Given the description of an element on the screen output the (x, y) to click on. 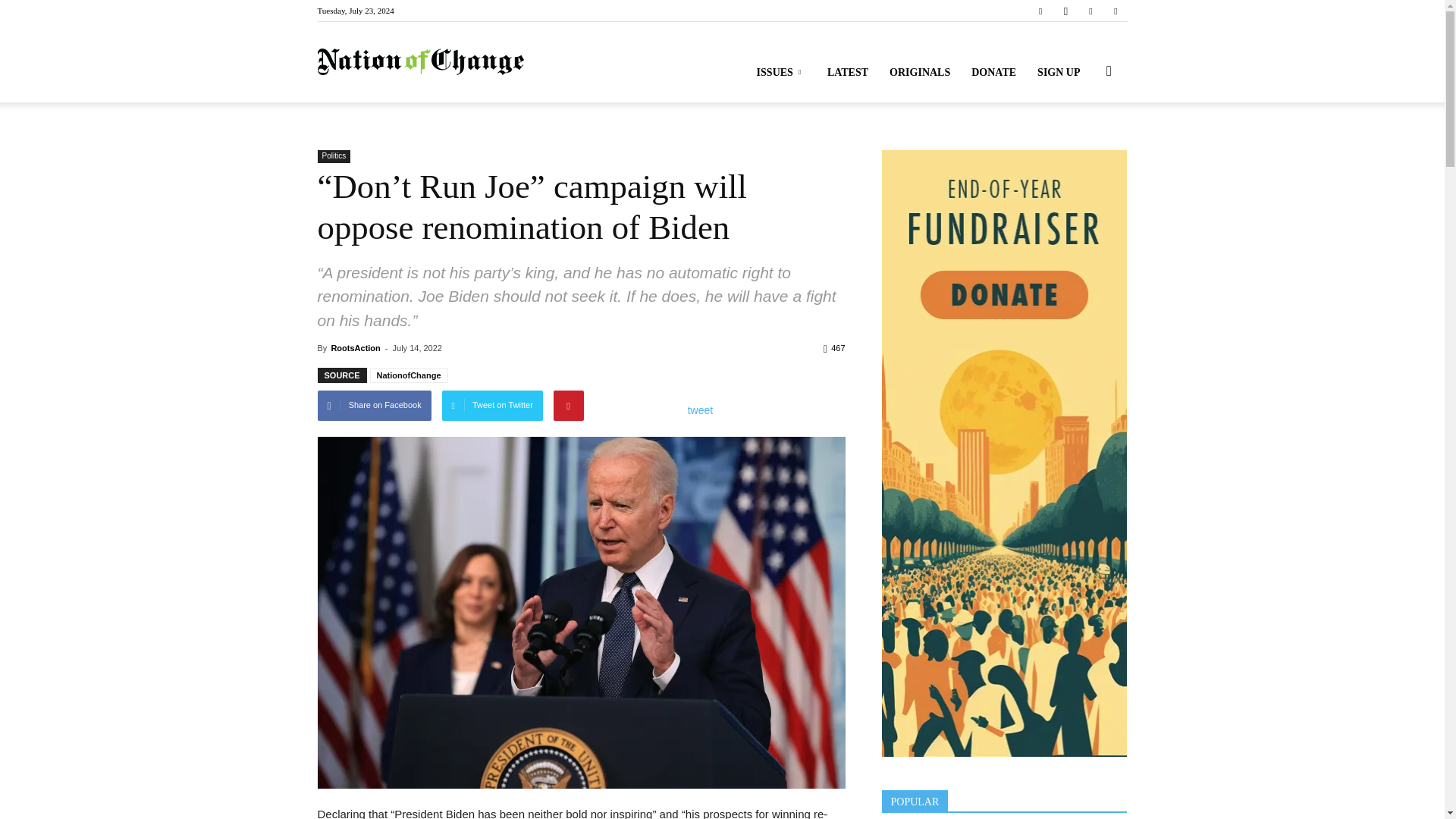
Instagram (1065, 10)
Youtube (1114, 10)
NationofChange (419, 61)
Facebook (1040, 10)
ISSUES (780, 72)
Twitter (1090, 10)
